Given the description of an element on the screen output the (x, y) to click on. 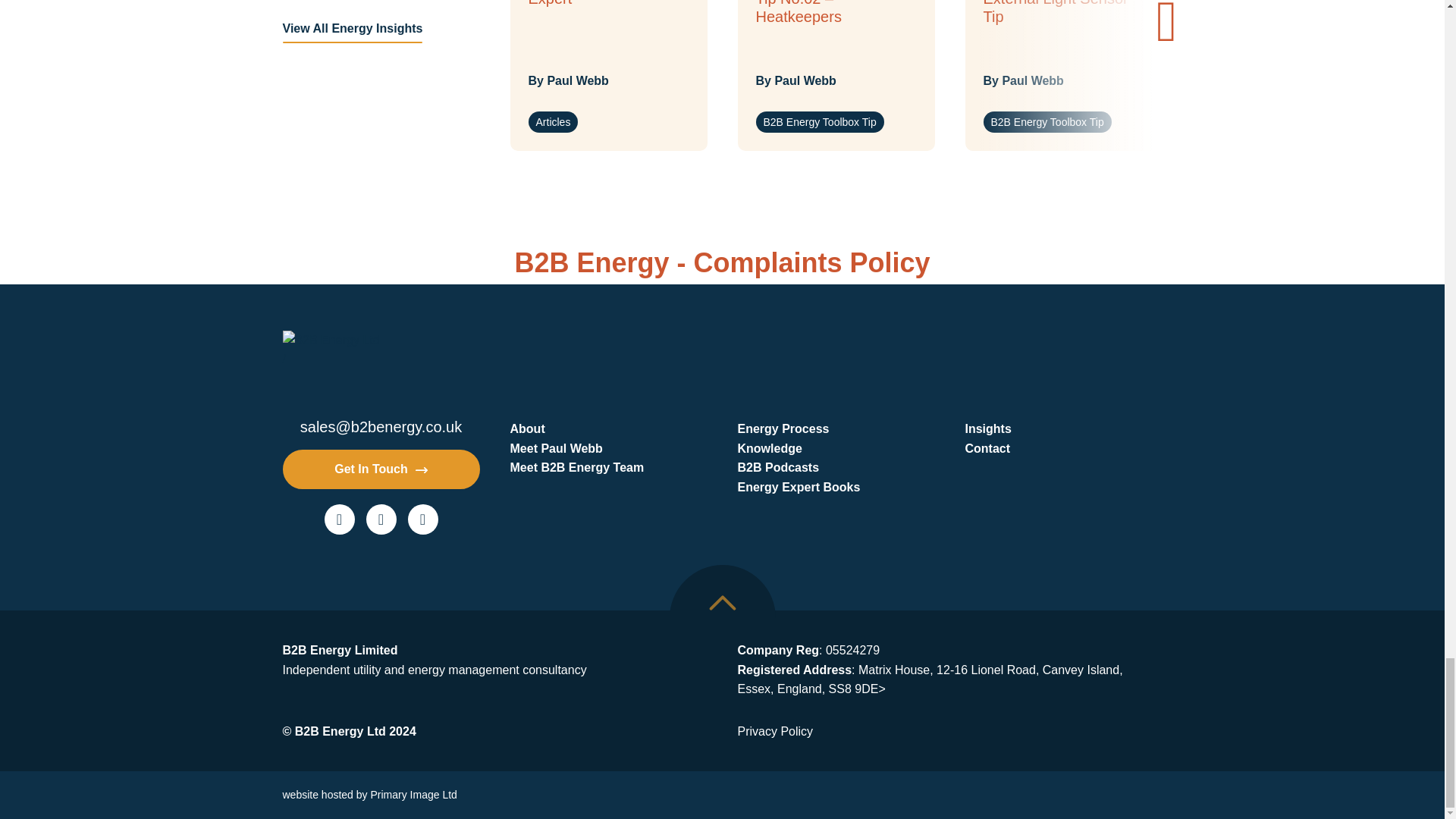
Energy Process (835, 428)
About (607, 428)
Meet B2B Energy Team (607, 467)
Meet Paul Webb (607, 448)
Knowledge (835, 448)
Back to top (721, 602)
Back to top (721, 617)
